Given the description of an element on the screen output the (x, y) to click on. 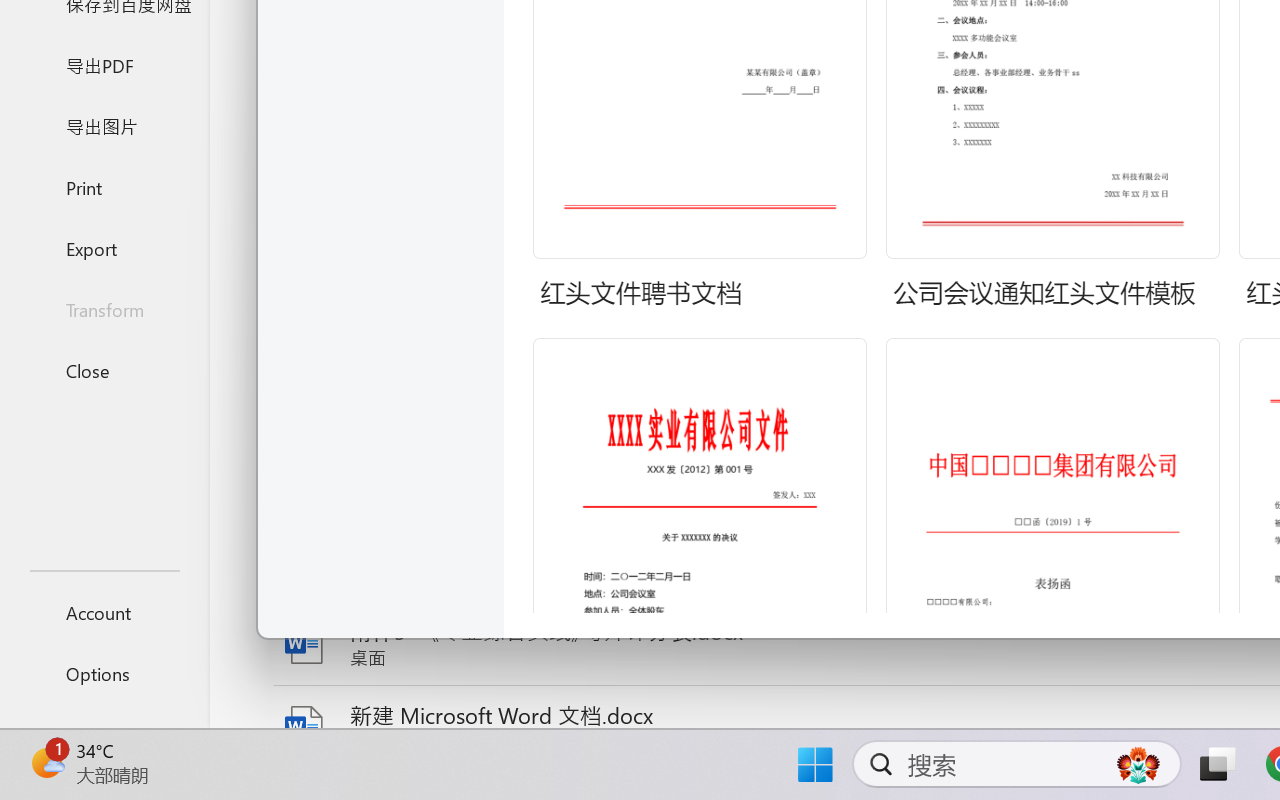
VMware Workstation Pro (57, 300)
AutomationID: DynamicSearchBoxGleamImage (1138, 764)
AutomationID: BadgeAnchorLargeTicker (46, 762)
